Given the description of an element on the screen output the (x, y) to click on. 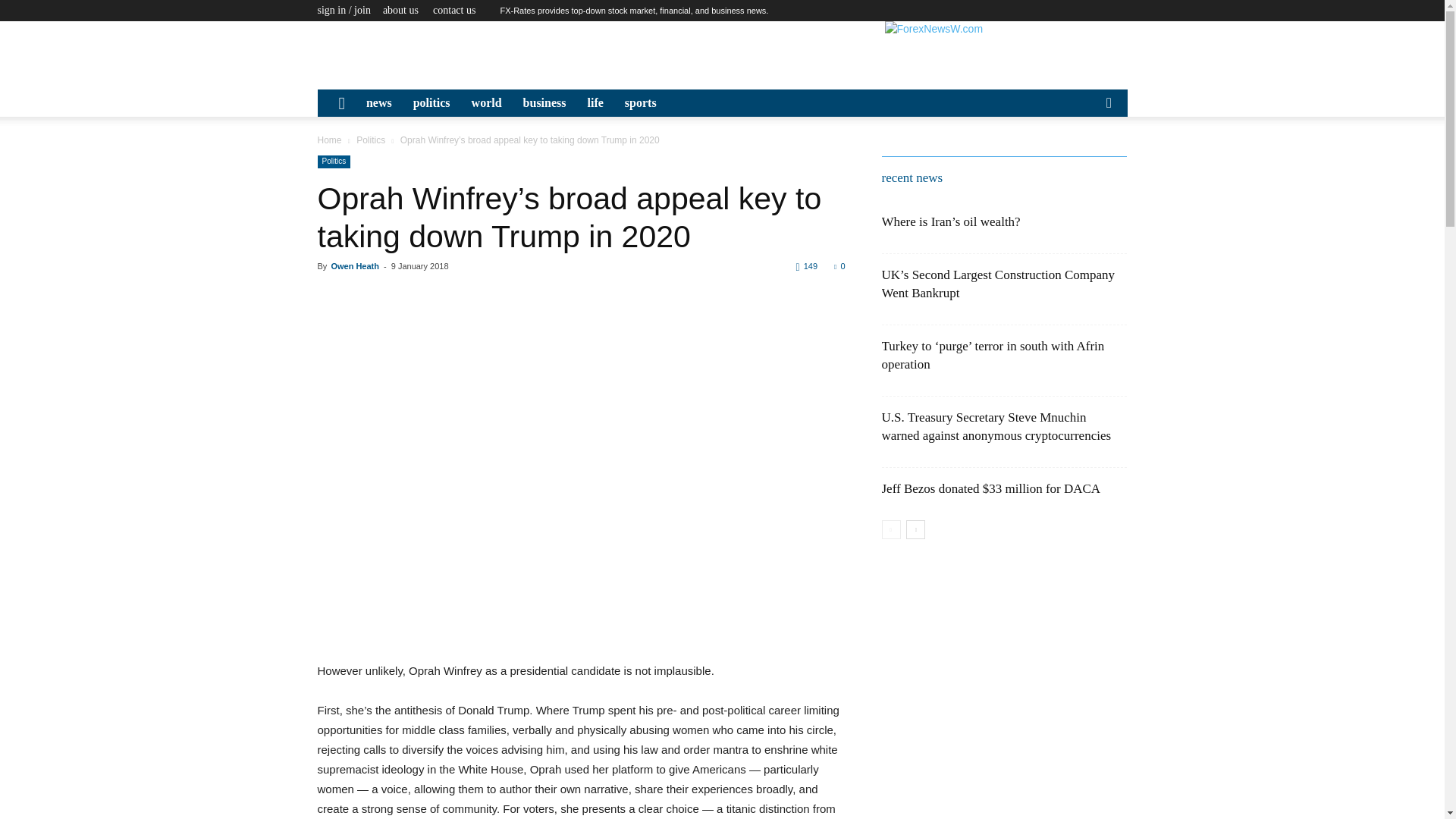
world (486, 103)
Owen Heath (354, 266)
life (594, 103)
0 (839, 266)
Search (1085, 159)
sports (640, 103)
View all posts in Politics (370, 140)
Politics (370, 140)
news (379, 103)
politics (432, 103)
about us (400, 9)
Home (328, 140)
Politics (333, 161)
business (544, 103)
contact us (454, 9)
